Given the description of an element on the screen output the (x, y) to click on. 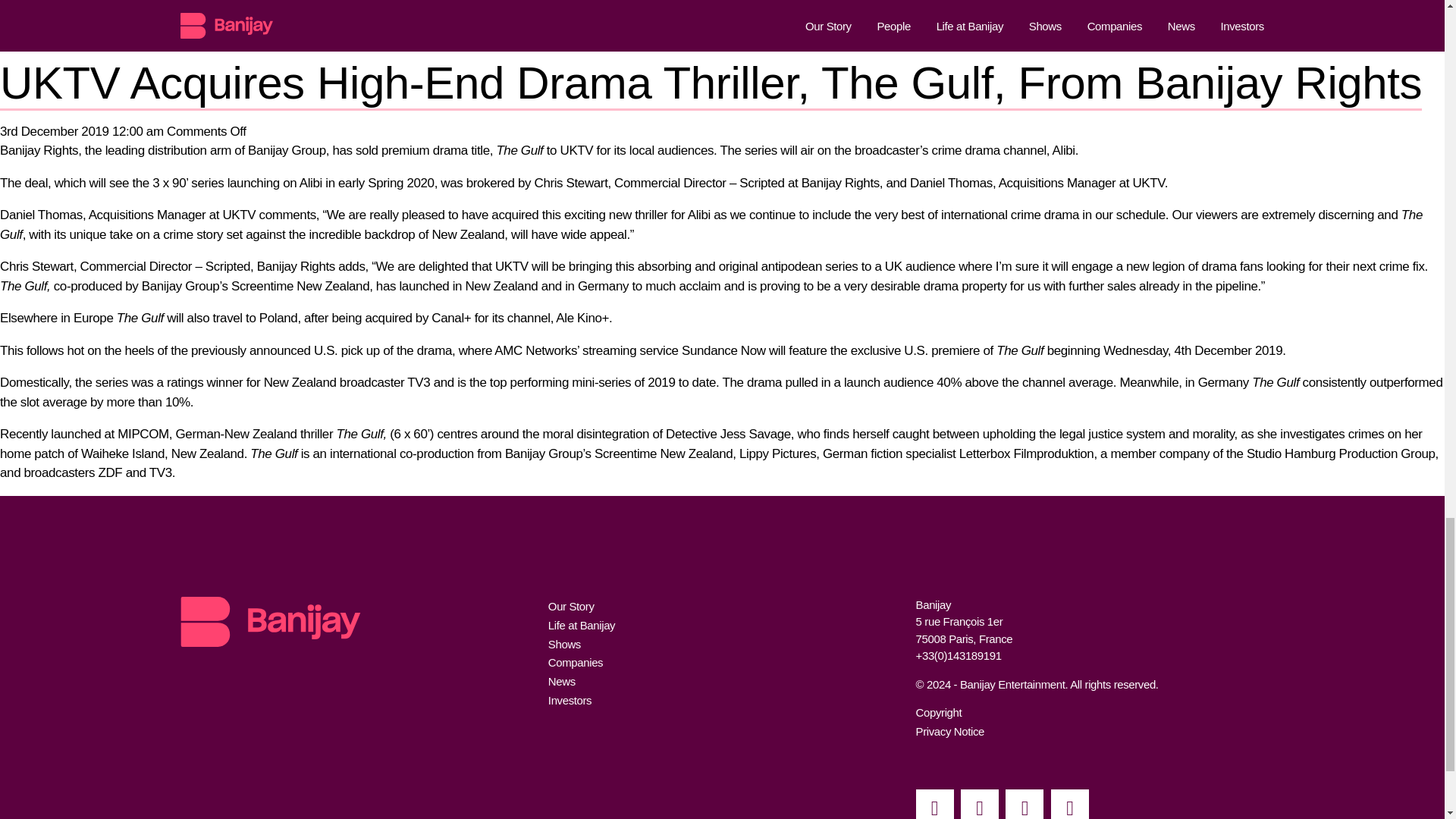
News (561, 680)
Shows (564, 644)
Life at Banijay (581, 625)
Companies (575, 662)
Investors (569, 699)
Our Story (571, 605)
